Given the description of an element on the screen output the (x, y) to click on. 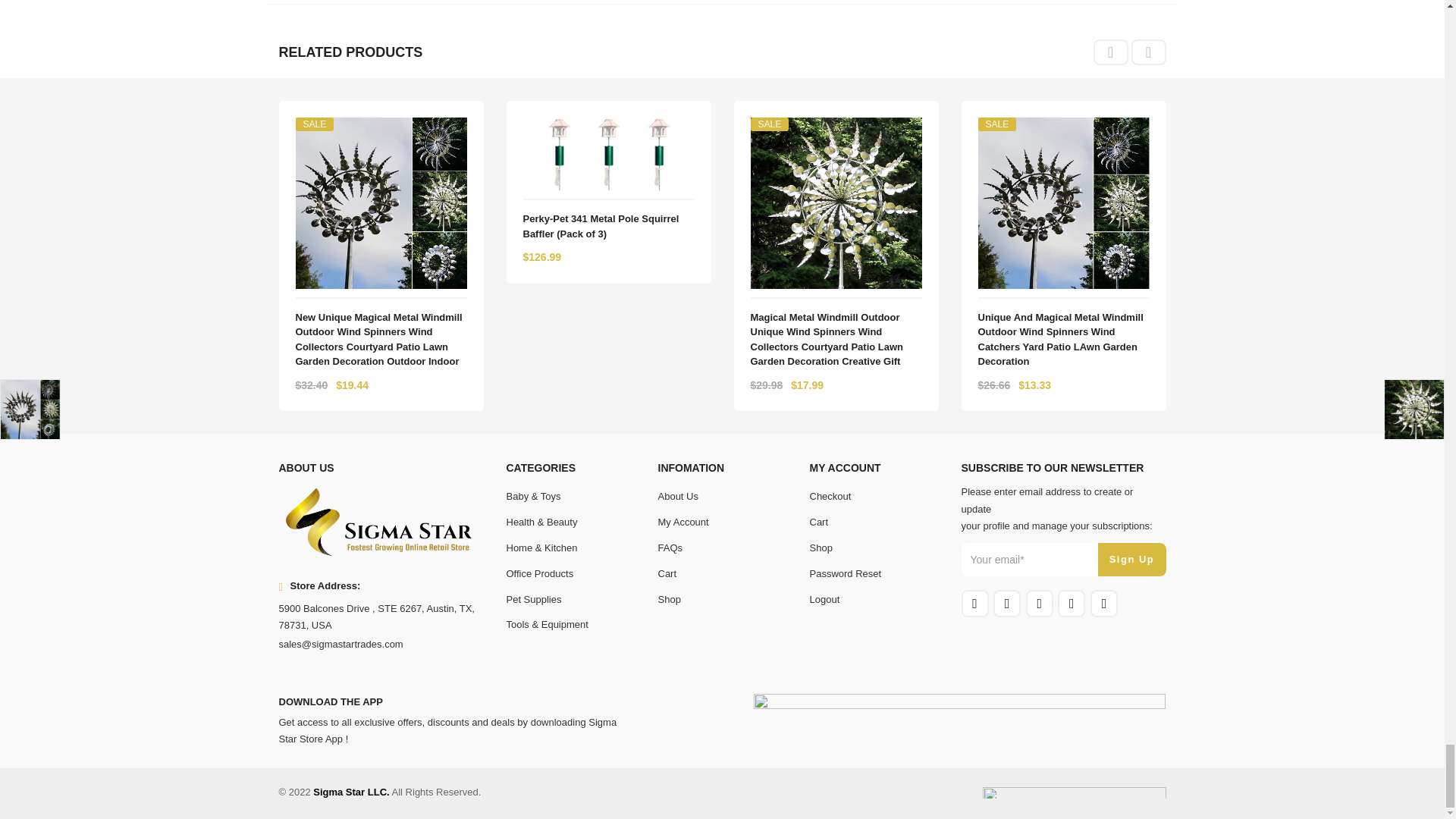
Sign Up (1131, 559)
